Given the description of an element on the screen output the (x, y) to click on. 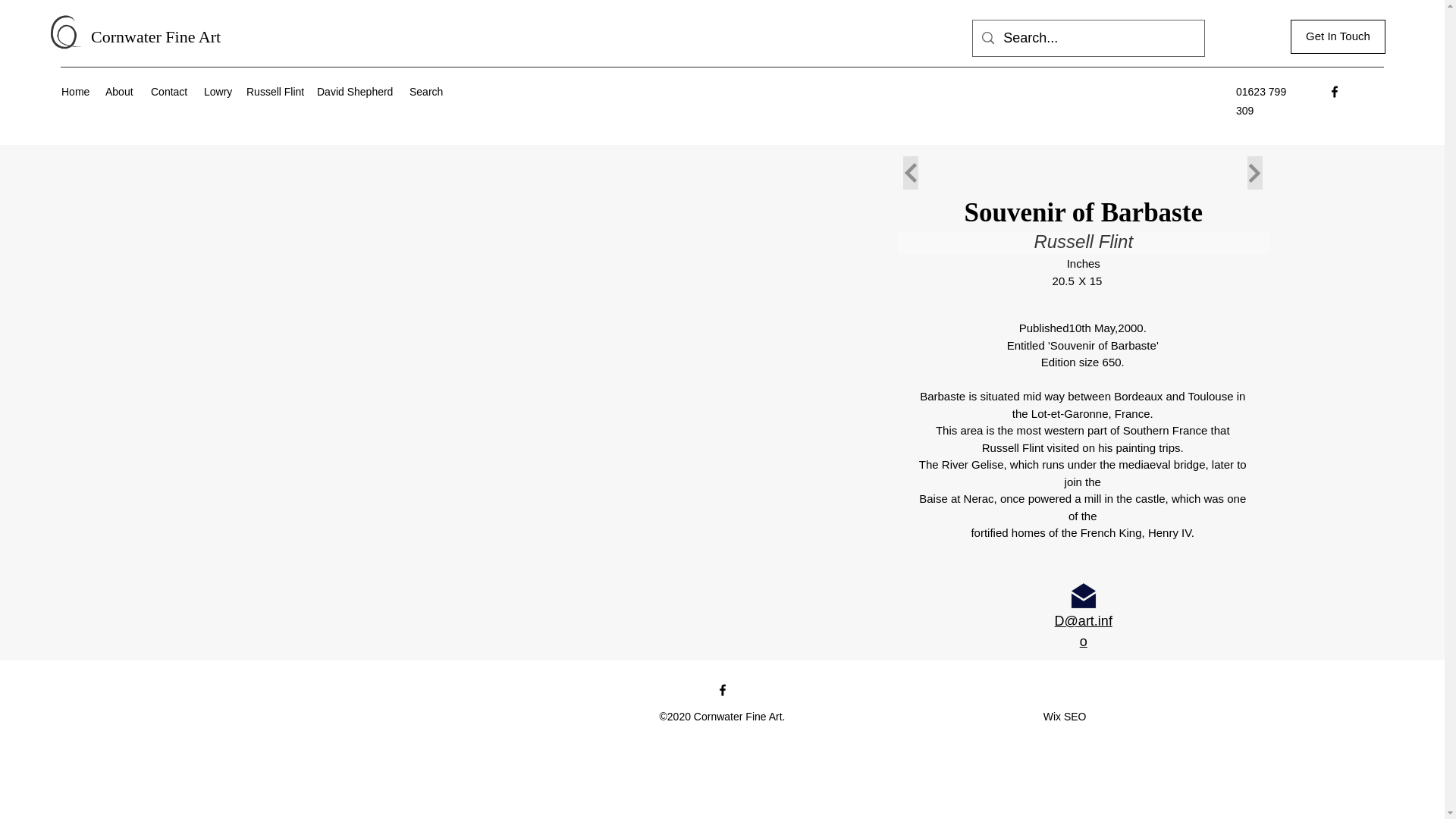
Wix SEO (1064, 716)
Home (75, 91)
Cornwater Fine Art (155, 36)
Get In Touch (1338, 36)
01623 799 309 (1260, 101)
Russell Flint (273, 91)
Search (425, 91)
David Shepherd (354, 91)
Lowry (217, 91)
Contact (169, 91)
About (119, 91)
Email for more information (1083, 595)
